Given the description of an element on the screen output the (x, y) to click on. 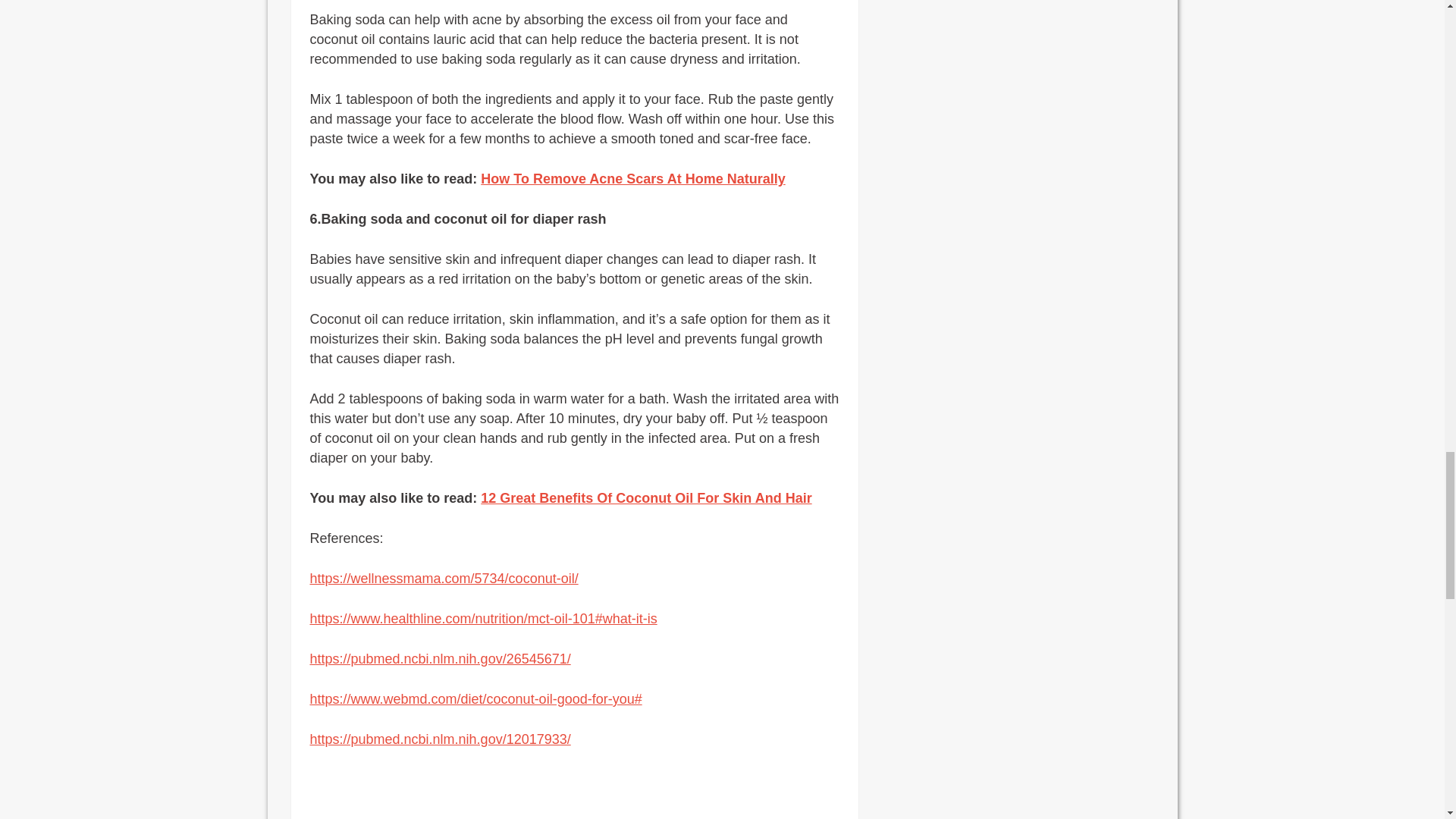
12 Great Benefits Of Coconut Oil For Skin And Hair (645, 498)
How To Remove Acne Scars At Home Naturally (632, 178)
